Given the description of an element on the screen output the (x, y) to click on. 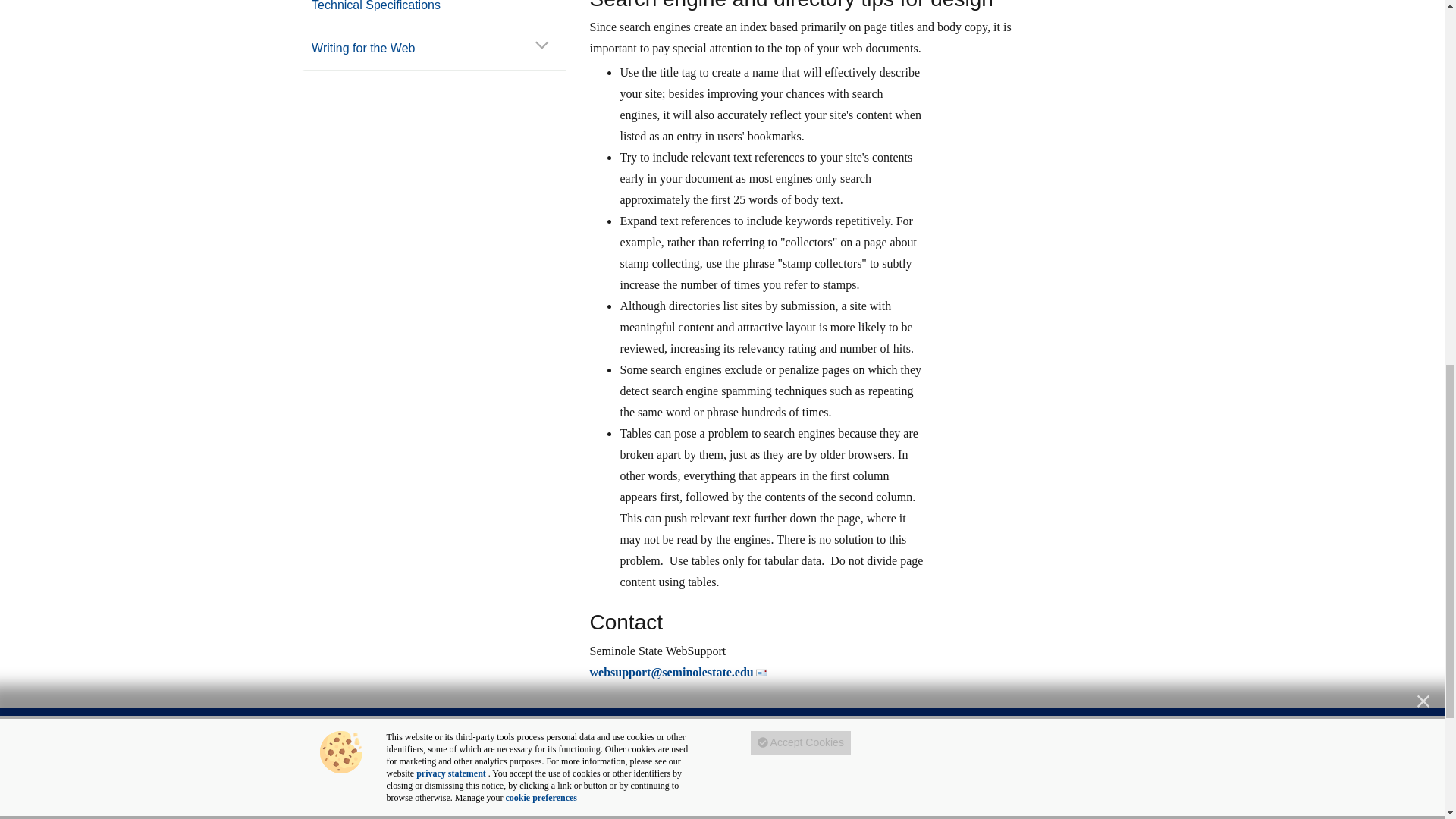
Like us on Facebook (538, 814)
Network with us on LinkedIn (652, 814)
See us on Instagram (691, 814)
Watch us on YouTube (614, 814)
Follow us on Twitter (576, 814)
